Given the description of an element on the screen output the (x, y) to click on. 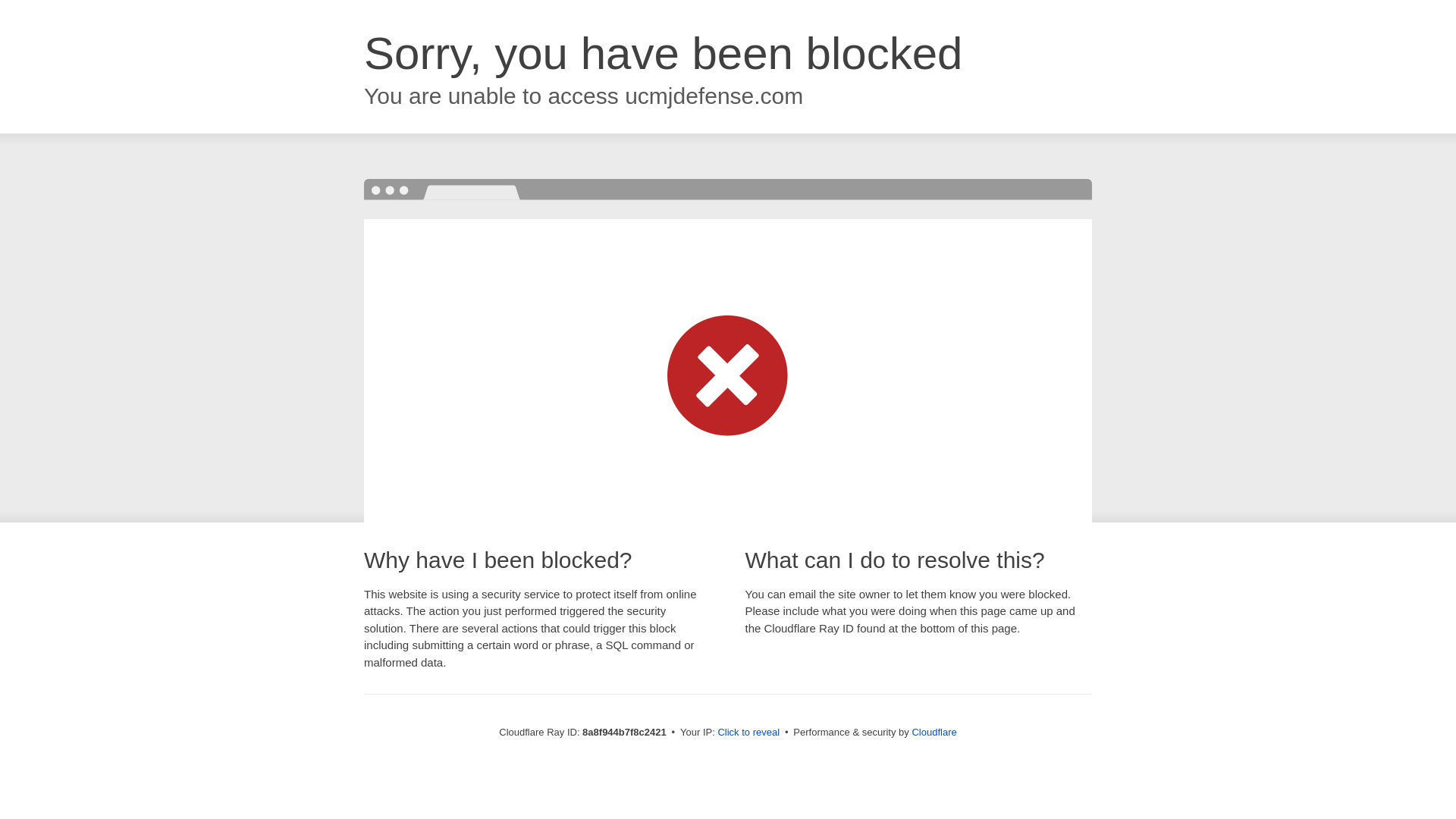
Click to reveal (747, 732)
Cloudflare (933, 731)
